Given the description of an element on the screen output the (x, y) to click on. 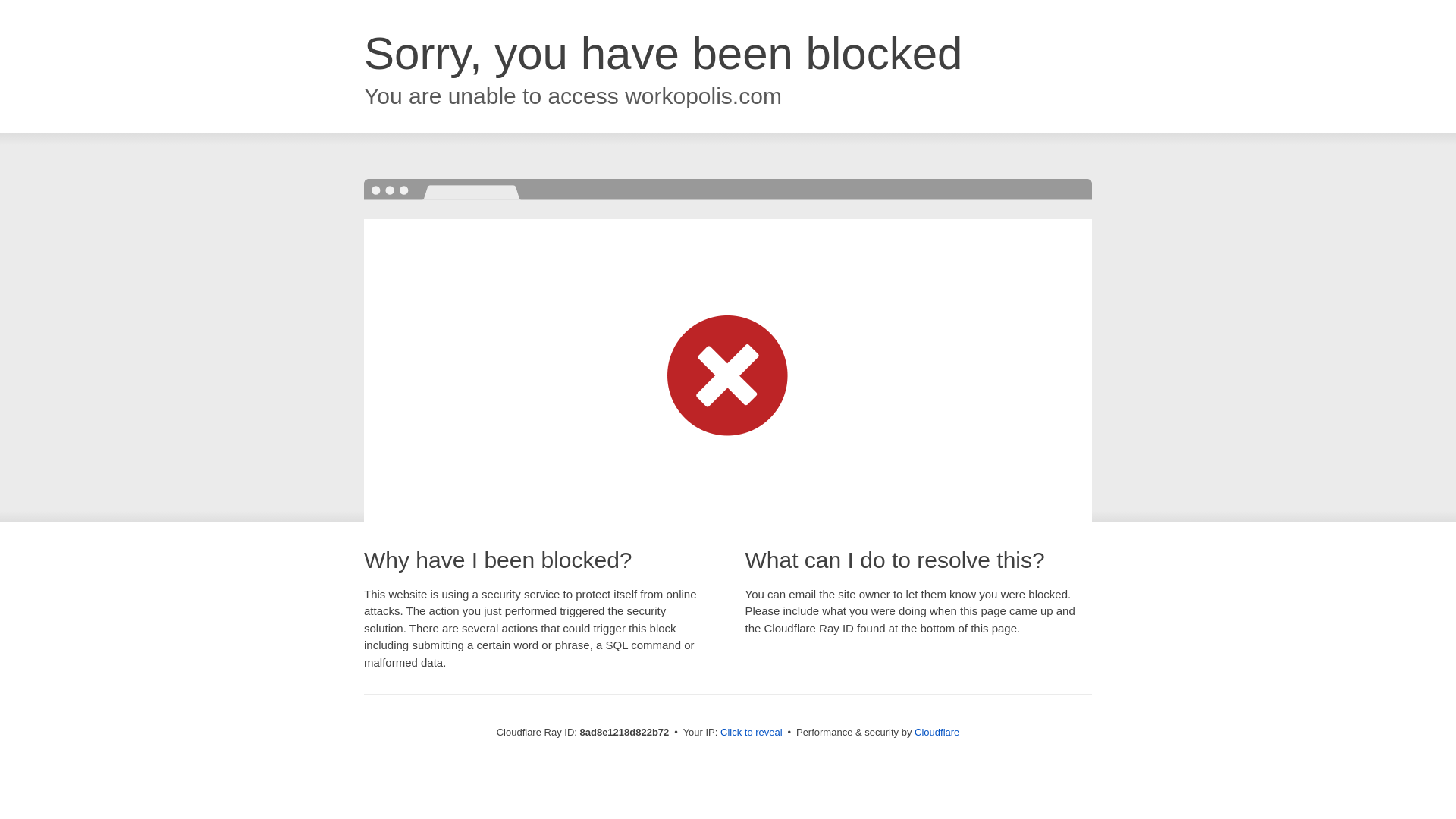
Cloudflare (936, 731)
Click to reveal (751, 732)
